Given the description of an element on the screen output the (x, y) to click on. 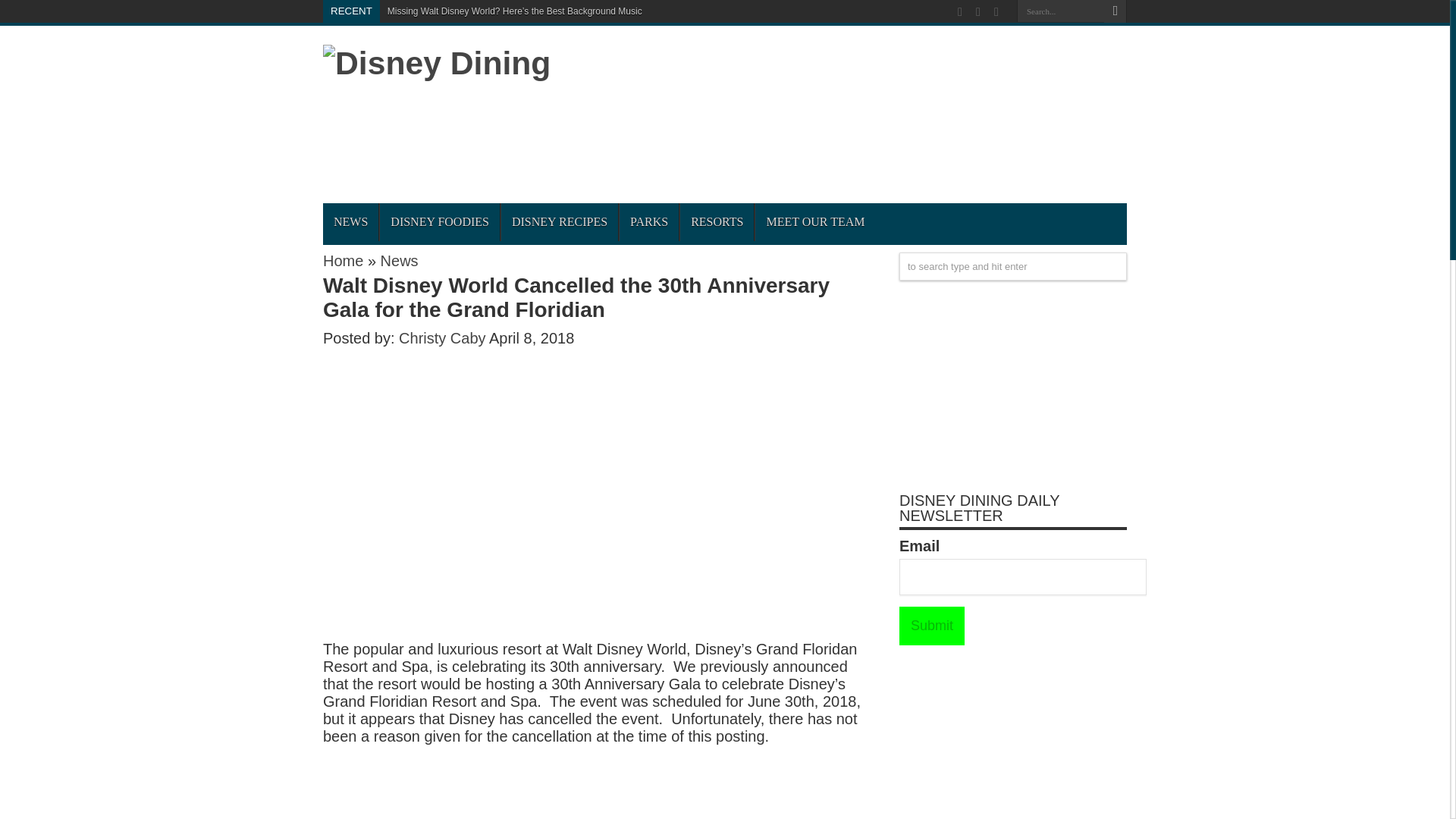
MEET OUR TEAM (814, 221)
Submit (931, 625)
News (399, 260)
DISNEY RECIPES (558, 221)
Search (1114, 11)
DISNEY FOODIES (438, 221)
Christy Caby (443, 338)
to search type and hit enter (1012, 266)
Home (342, 260)
Search... (1059, 11)
